Given the description of an element on the screen output the (x, y) to click on. 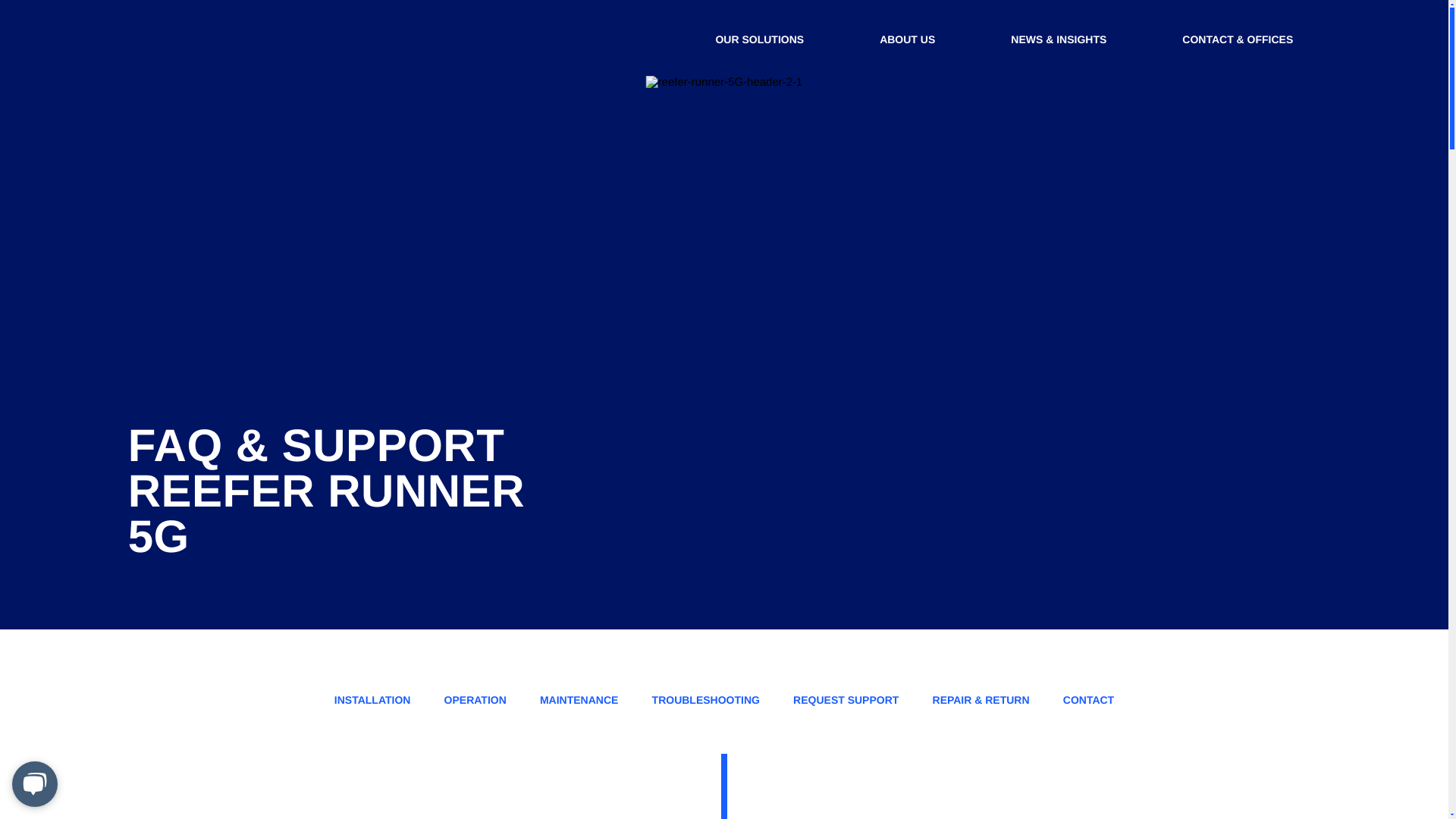
Chat Widget (37, 782)
OUR SOLUTIONS (767, 38)
ABOUT US (914, 38)
